Given the description of an element on the screen output the (x, y) to click on. 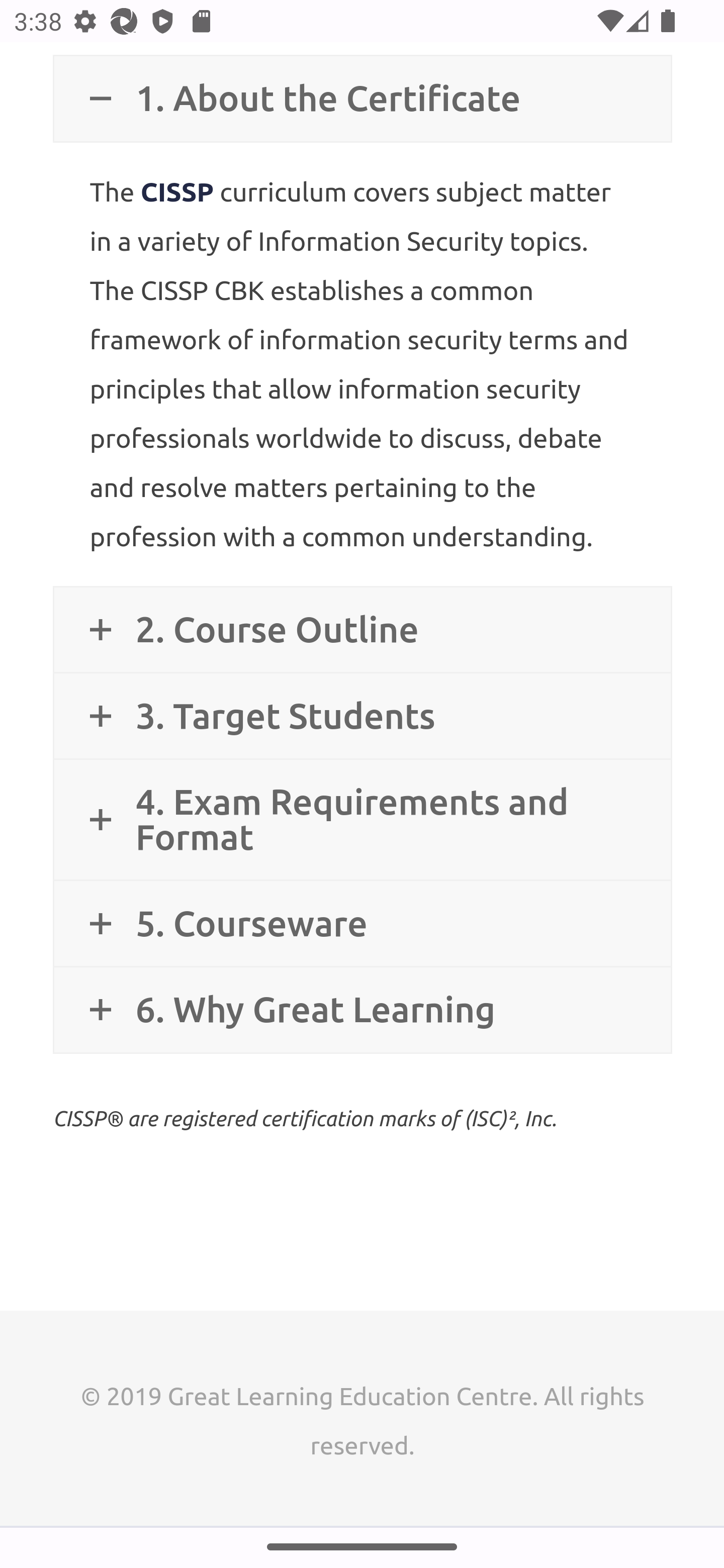
5. Courseware 5. Courseware 5. Courseware (361, 924)
